Given the description of an element on the screen output the (x, y) to click on. 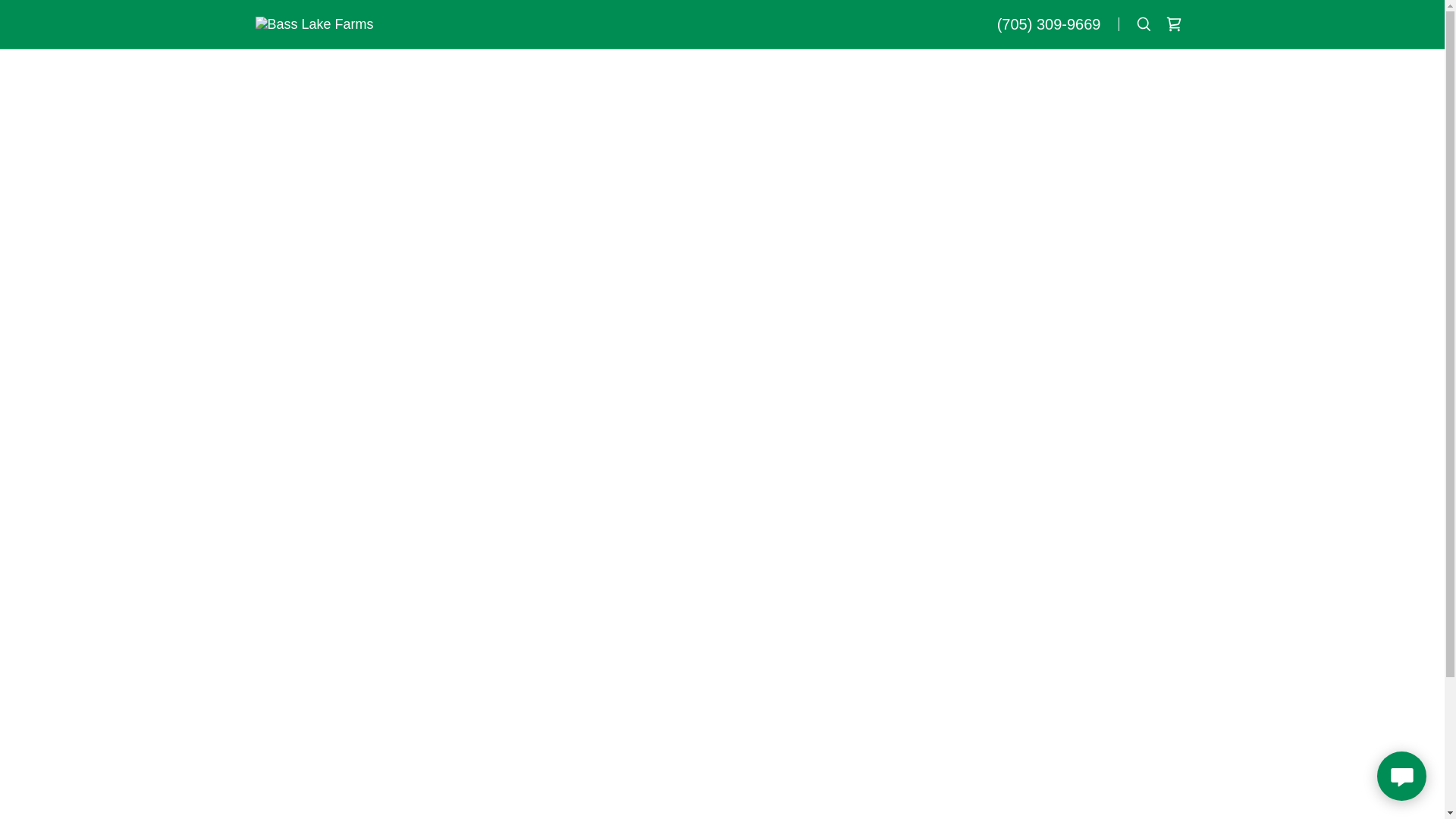
(705) 309-9669 Element type: text (1049, 23)
Bass Lake Farms Element type: hover (313, 23)
